Given the description of an element on the screen output the (x, y) to click on. 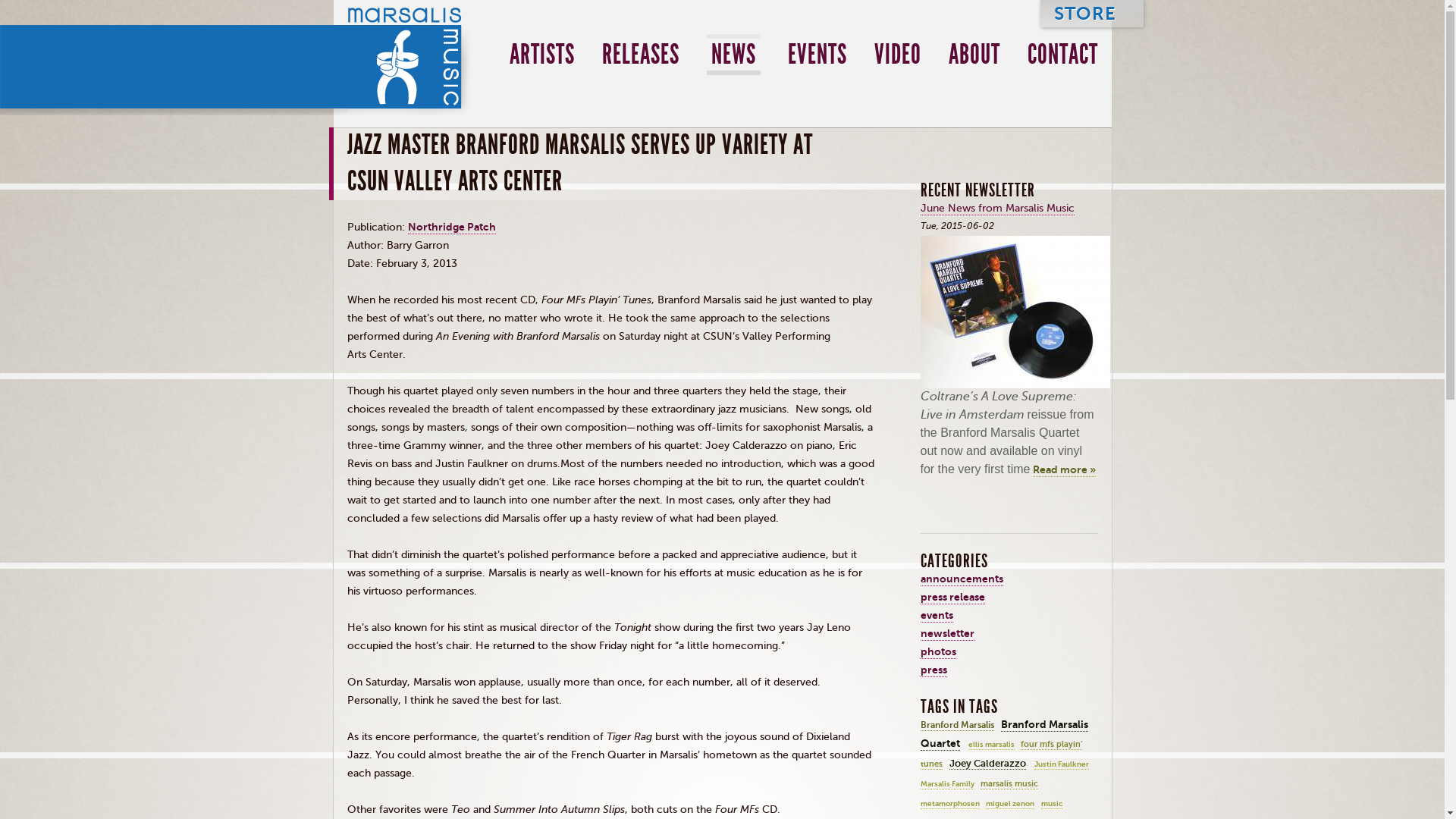
new orleans (982, 818)
Contact (1061, 54)
News (733, 54)
marsalis music (1008, 783)
press (933, 670)
EVENTS (816, 54)
Artists (542, 54)
NEWS (733, 54)
Video (896, 54)
newsletter (947, 633)
